Given the description of an element on the screen output the (x, y) to click on. 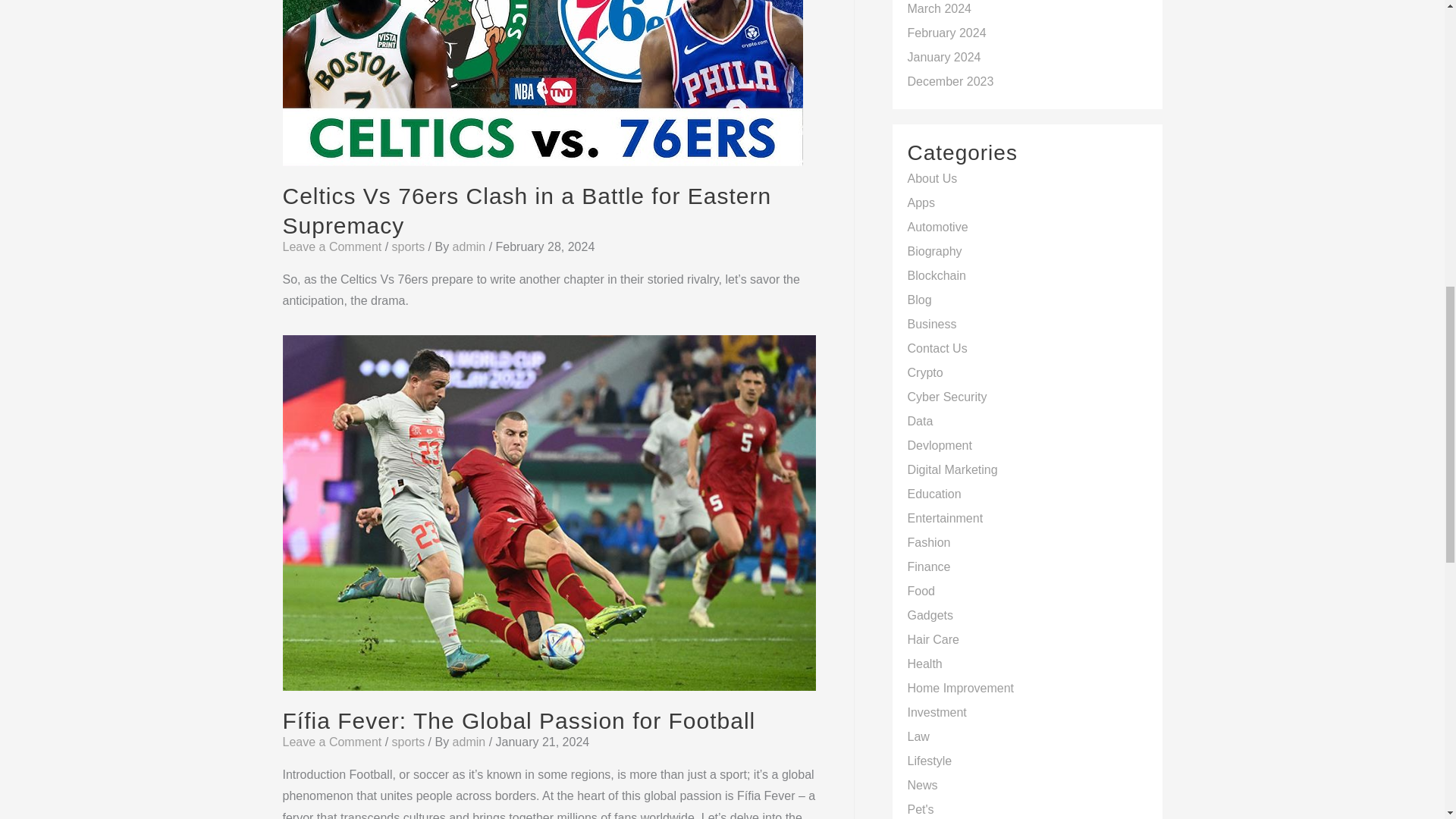
View all posts by admin (470, 741)
View all posts by admin (470, 246)
